Given the description of an element on the screen output the (x, y) to click on. 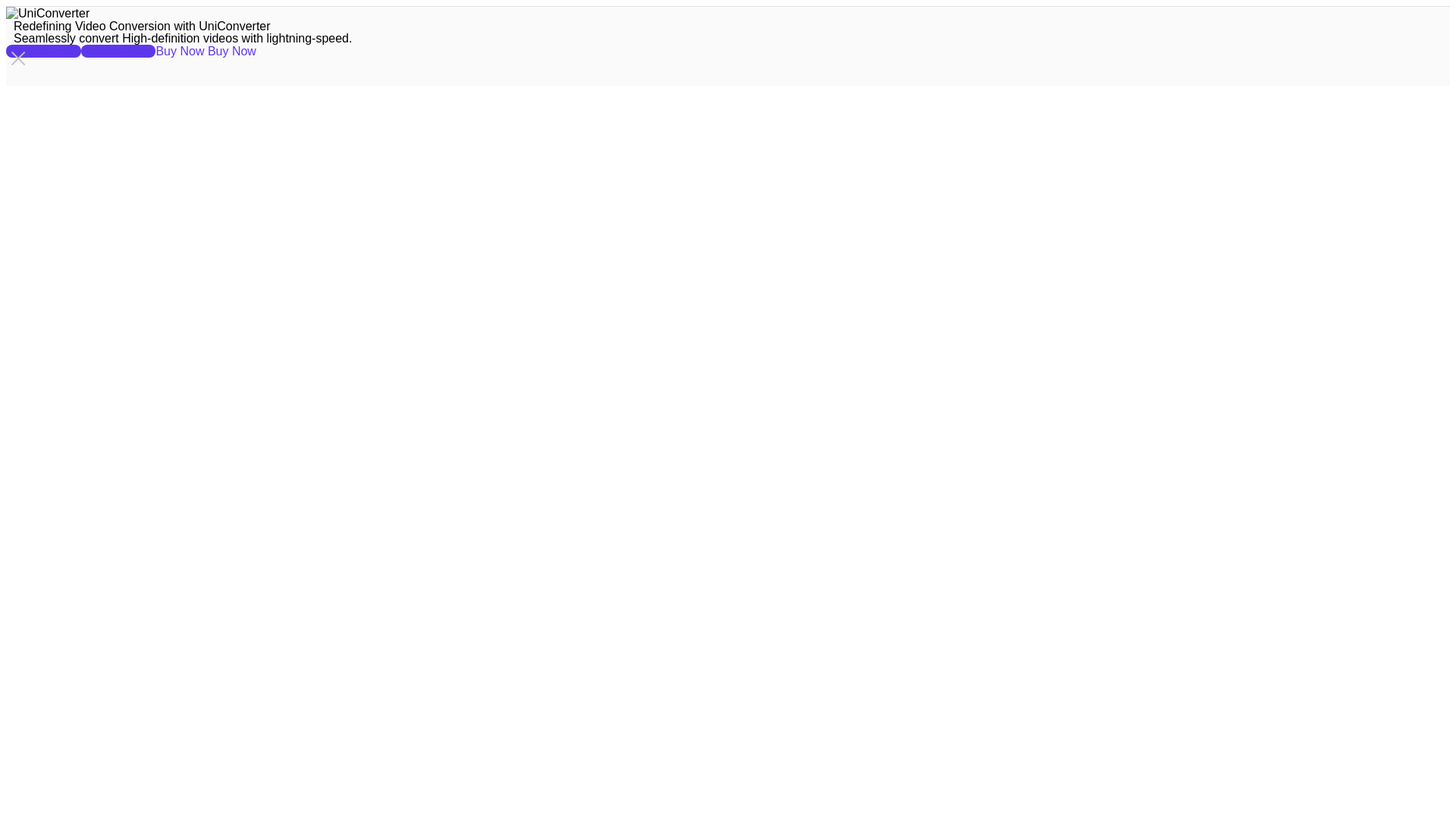
Start for Free (43, 51)
Buy Now (232, 51)
Buy Now (180, 51)
Start for Free (118, 51)
